Given the description of an element on the screen output the (x, y) to click on. 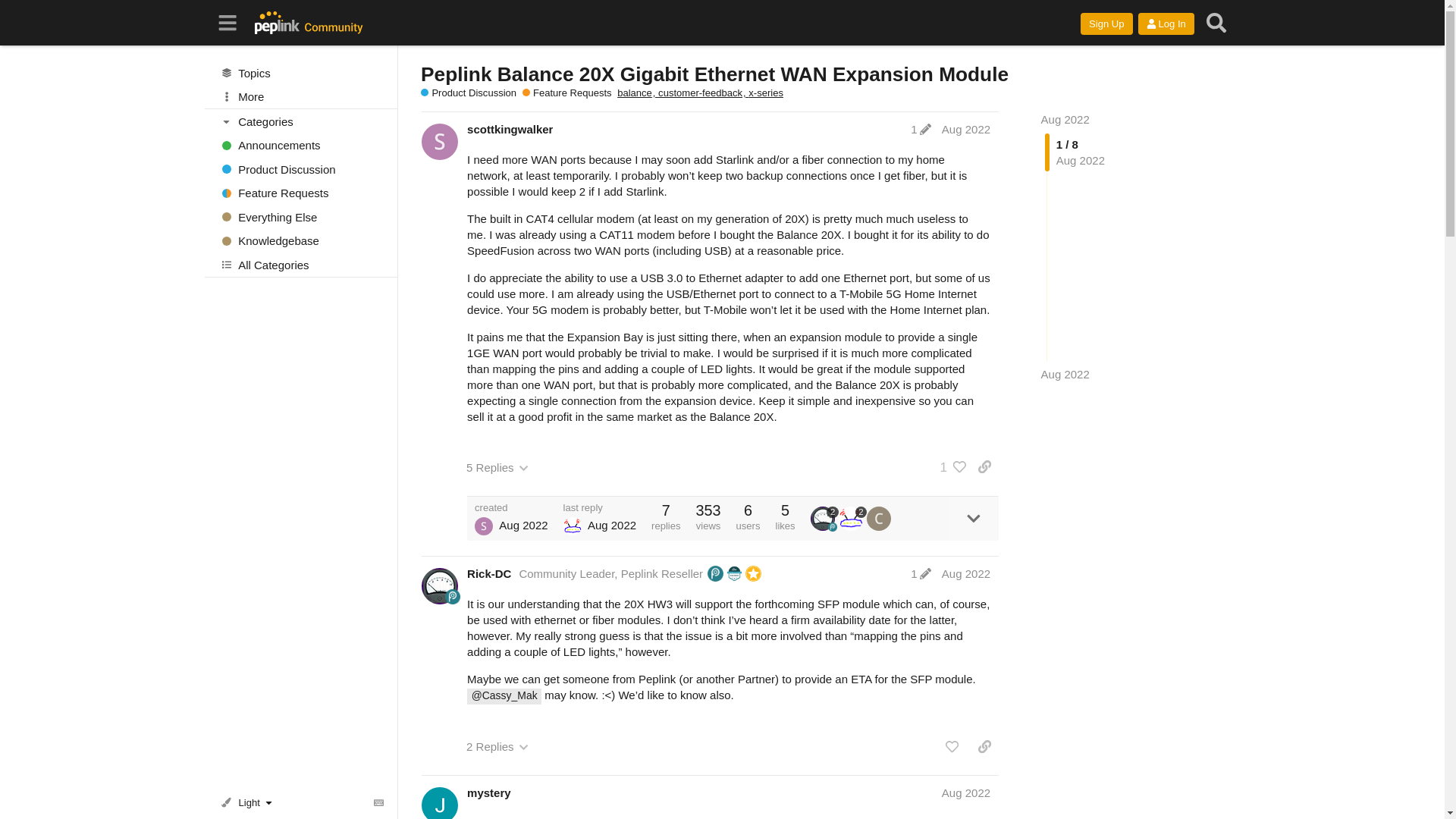
Aug 2022 (1065, 374)
1 (920, 128)
Product Discussion (468, 92)
balance (637, 92)
Aug 2022 (1065, 119)
Sidebar (227, 22)
All Categories (301, 264)
Collection of all things Peplink! (301, 216)
Peplink Balance 20X Gigabit Ethernet WAN Expansion Module (714, 74)
Announcements (301, 145)
Everything Else (301, 216)
Categories (301, 120)
Log In (1165, 24)
More (301, 96)
